Given the description of an element on the screen output the (x, y) to click on. 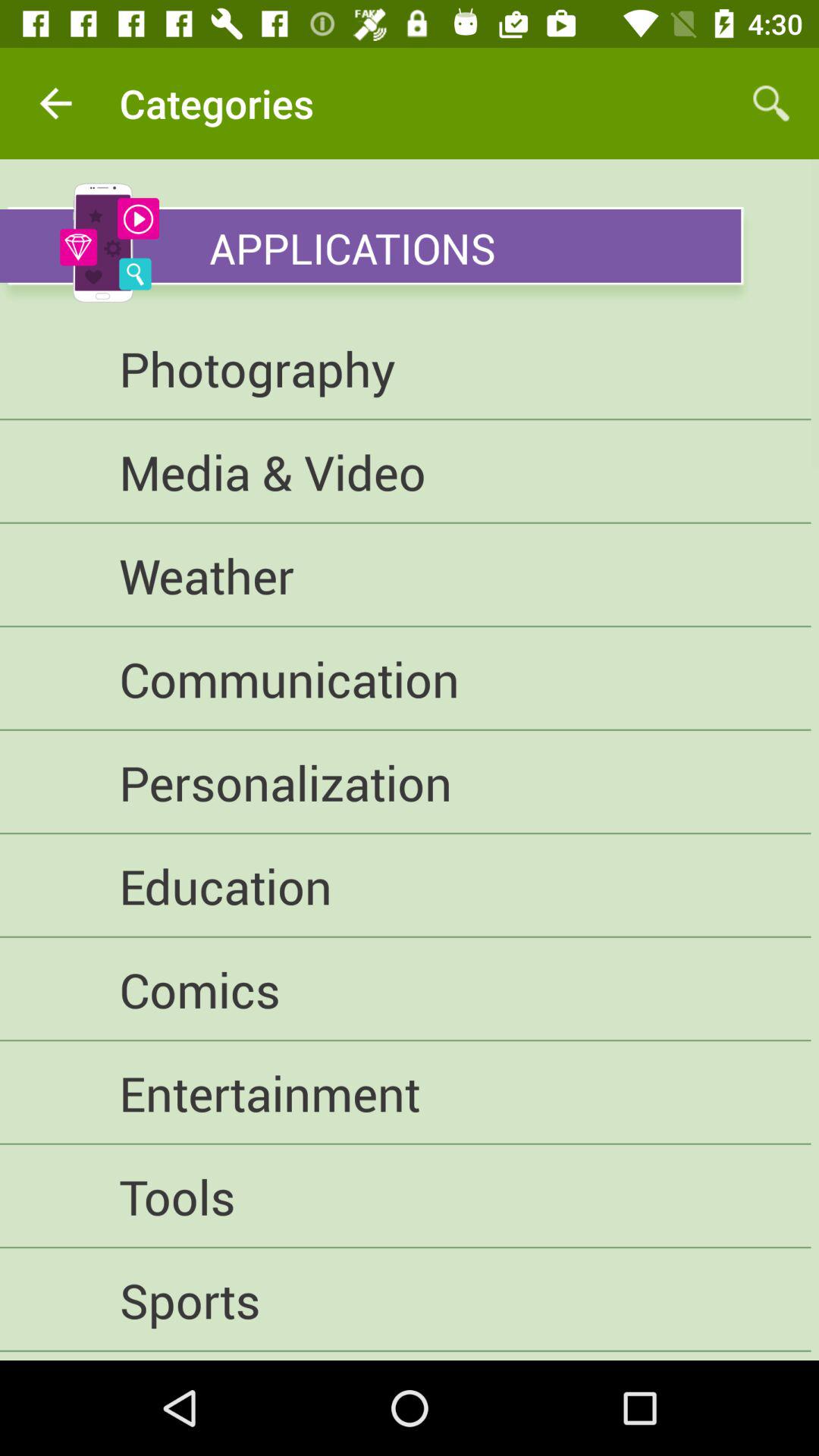
launch item at the top right corner (771, 103)
